Given the description of an element on the screen output the (x, y) to click on. 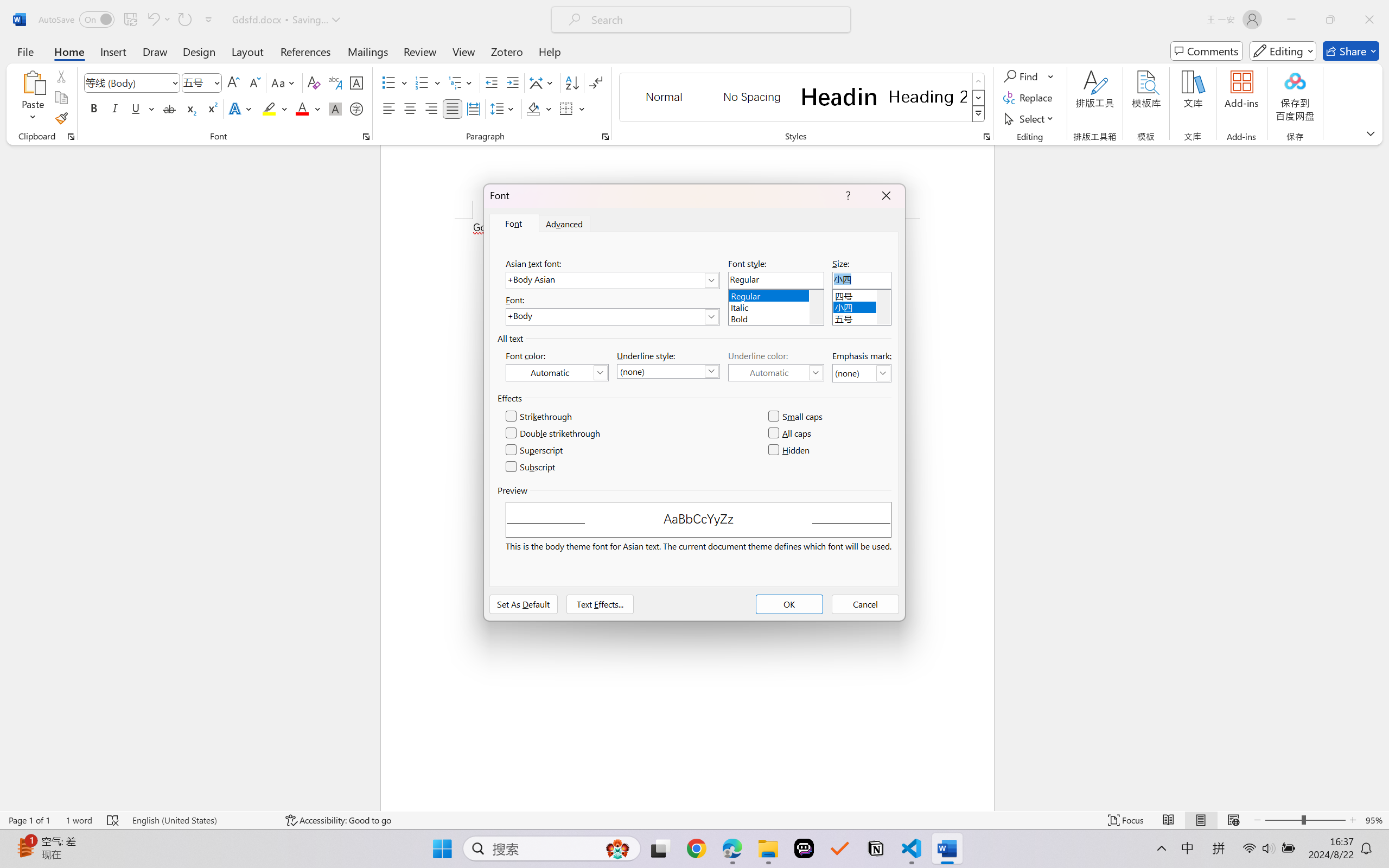
Align Right (431, 108)
Strikethrough (539, 416)
Strikethrough (169, 108)
Font Color (308, 108)
Heading 1 (839, 96)
Notion (875, 848)
Subscript (190, 108)
Increase Indent (512, 82)
